Given the description of an element on the screen output the (x, y) to click on. 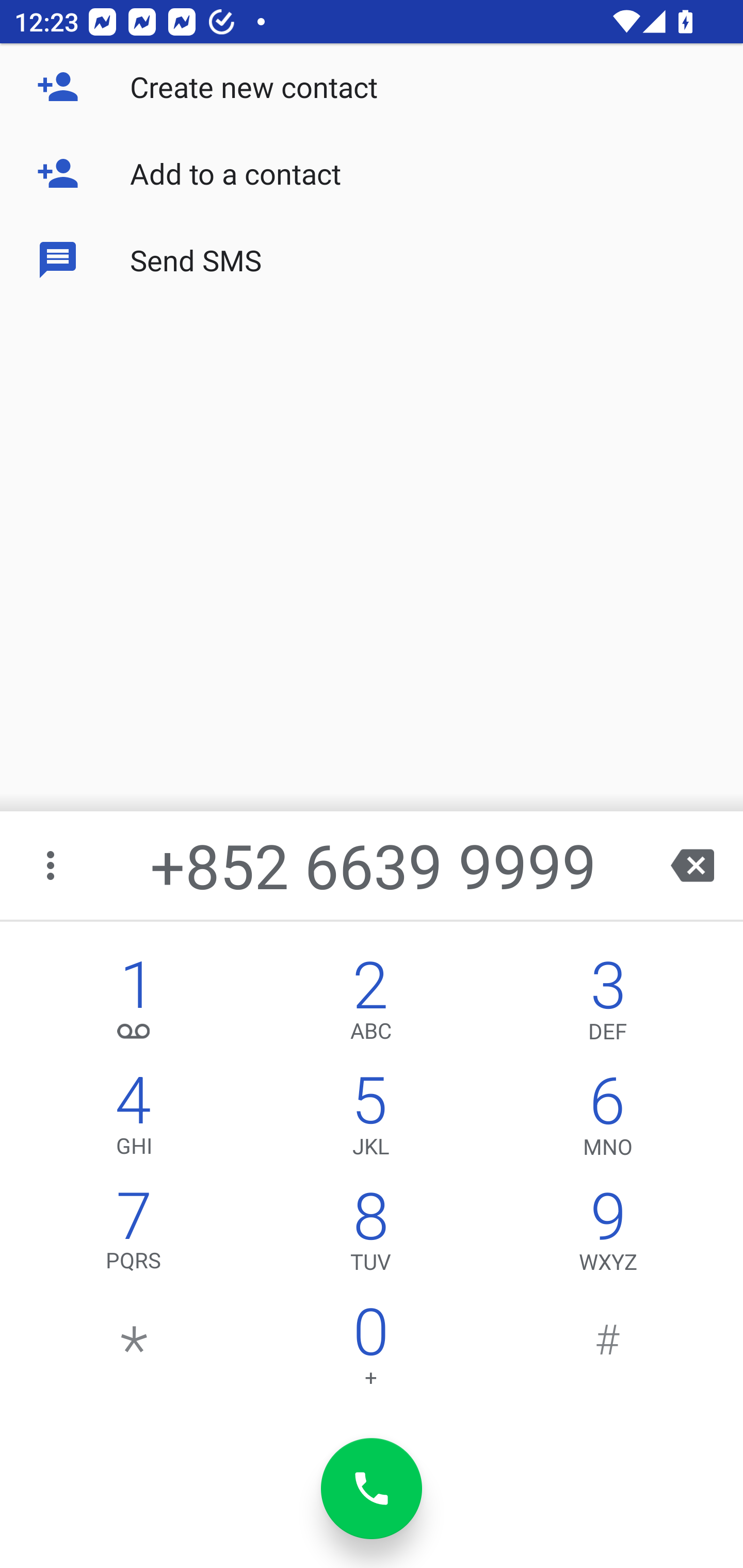
Create new contact (371, 86)
Add to a contact (371, 173)
Send SMS (371, 259)
+852 6639 9999 (372, 865)
backspace (692, 865)
More options (52, 865)
1, 1 (133, 1005)
2,ABC 2 ABC (370, 1005)
3,DEF 3 DEF (607, 1005)
4,GHI 4 GHI (133, 1120)
5,JKL 5 JKL (370, 1120)
6,MNO 6 MNO (607, 1120)
7,PQRS 7 PQRS (133, 1235)
8,TUV 8 TUV (370, 1235)
9,WXYZ 9 WXYZ (607, 1235)
* (133, 1351)
0 0 + (370, 1351)
# (607, 1351)
dial (371, 1488)
